Given the description of an element on the screen output the (x, y) to click on. 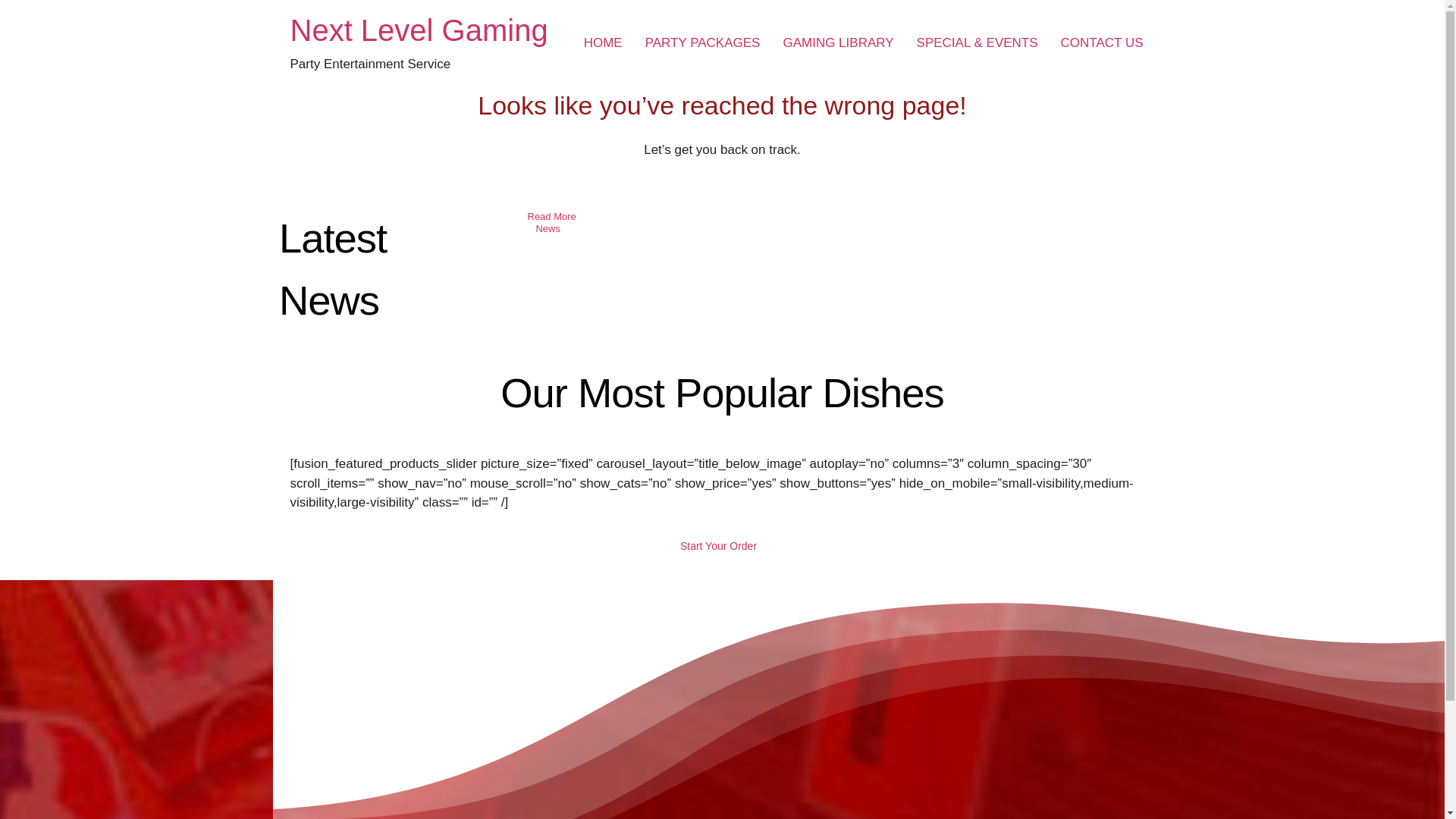
GAMING LIBRARY (837, 42)
PARTY PACKAGES (702, 42)
Next Level Gaming (418, 29)
Home (418, 29)
Start Your Order (722, 546)
Read More News (551, 222)
HOME (602, 42)
CONTACT US (1101, 42)
